Given the description of an element on the screen output the (x, y) to click on. 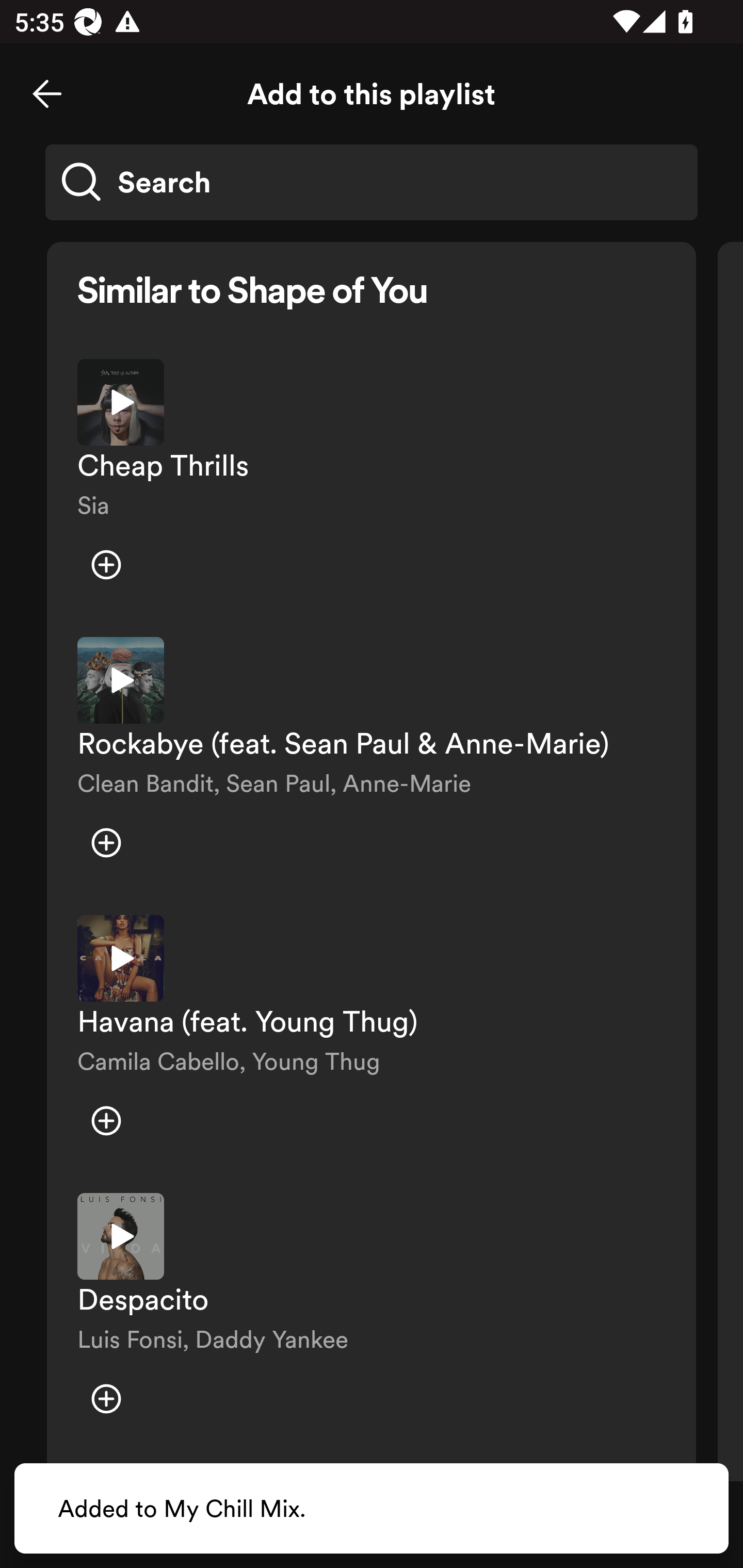
Close (46, 93)
Search (371, 181)
Play preview Cheap Thrills Sia Add item (371, 483)
Play preview (120, 402)
Add item (106, 565)
Play preview (120, 680)
Add item (106, 842)
Play preview (120, 958)
Add item (106, 1120)
Play preview (120, 1236)
Add item (106, 1398)
